Given the description of an element on the screen output the (x, y) to click on. 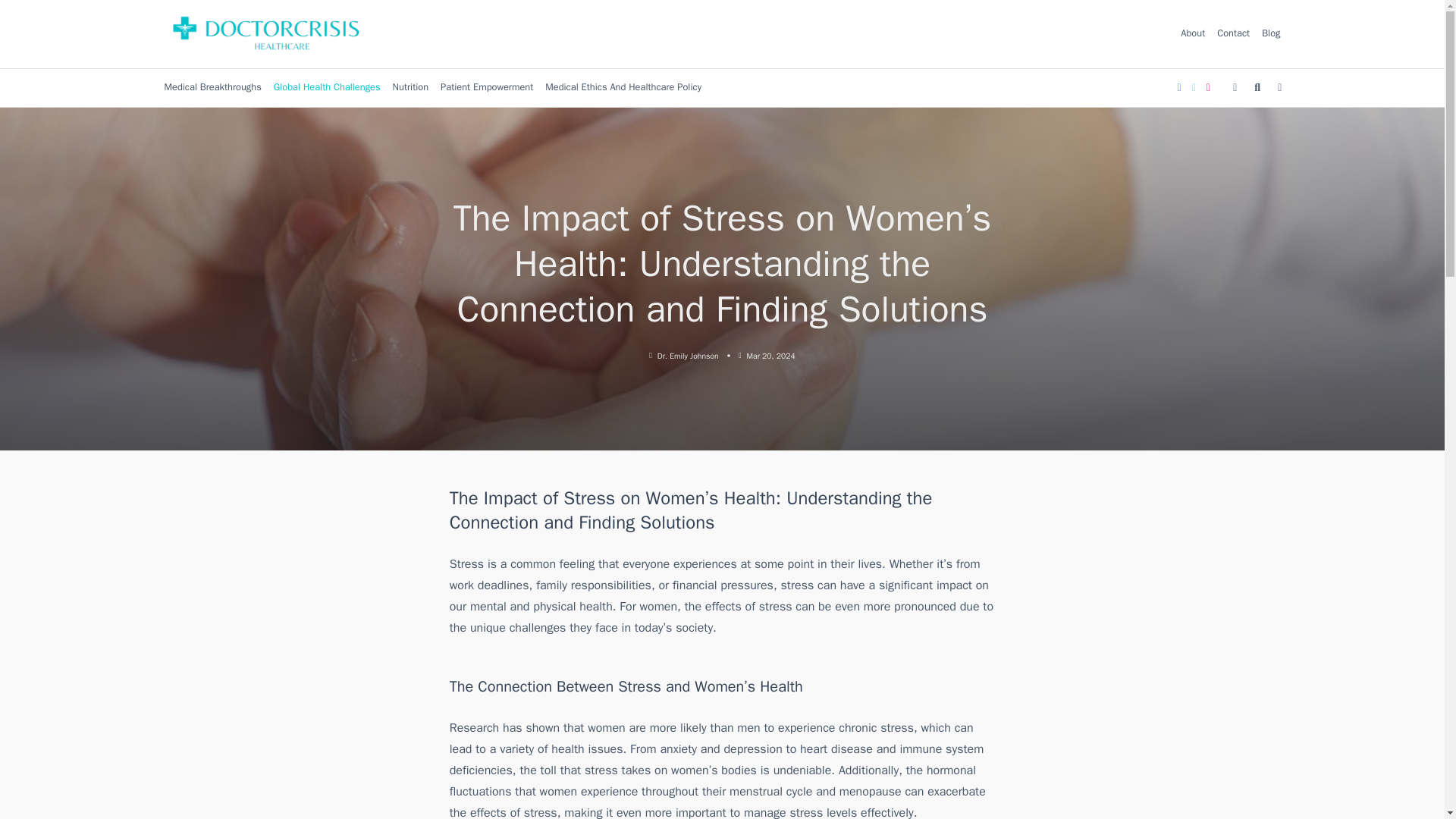
Global Health Challenges (327, 87)
Medical Ethics And Healthcare Policy (622, 87)
Contact (1233, 33)
About (1192, 33)
Medical Breakthroughs (211, 87)
Nutrition (411, 87)
Patient Empowerment (485, 87)
